Given the description of an element on the screen output the (x, y) to click on. 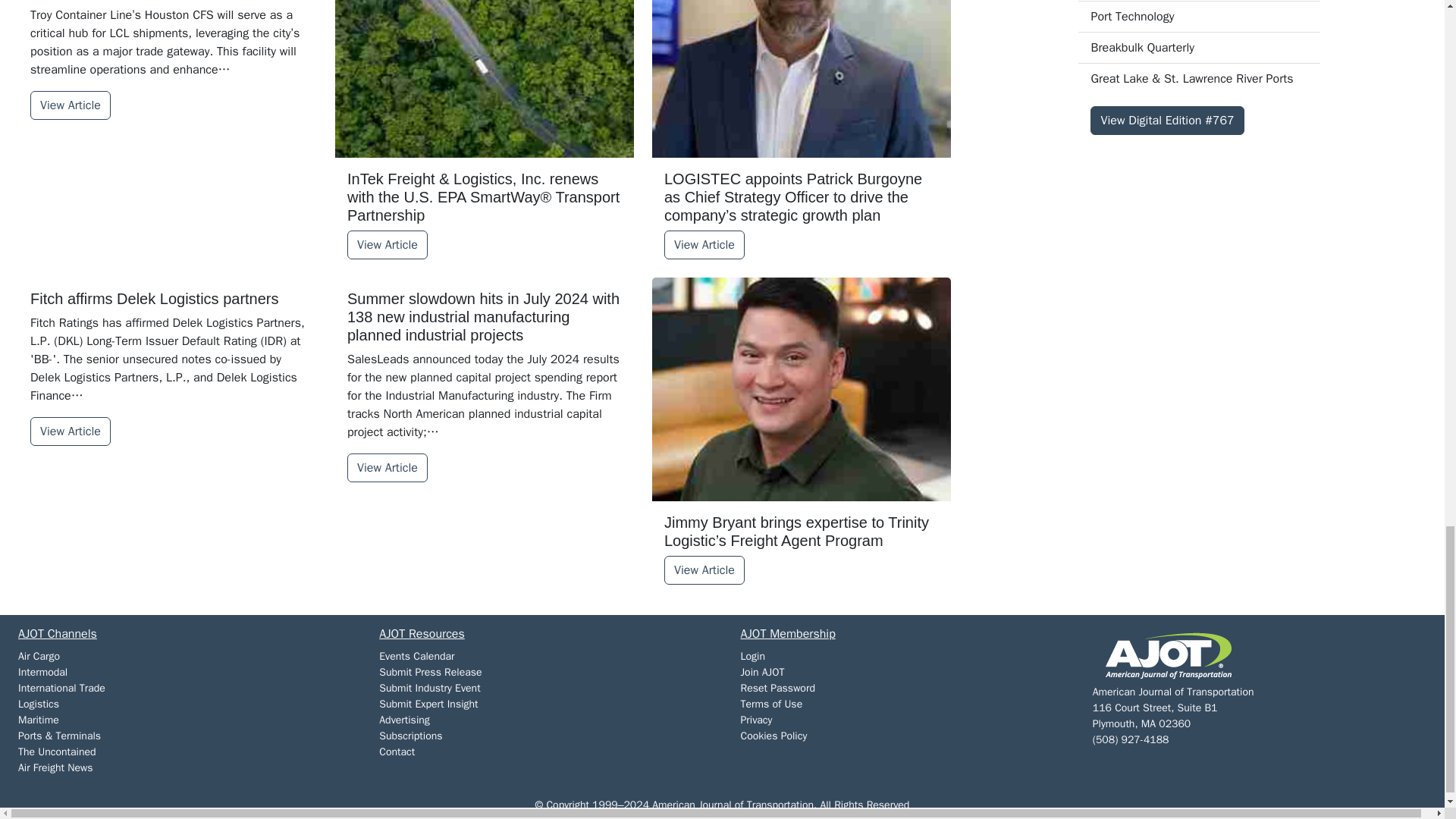
News from the intermodal freight transportation industry. (41, 671)
Visit The Uncontained (56, 751)
View Article (70, 430)
View Article (387, 244)
Maritime transportation, goods, services and regulation news (38, 719)
Visit Air Freight News (55, 767)
View Article (70, 104)
View Article (703, 244)
